Given the description of an element on the screen output the (x, y) to click on. 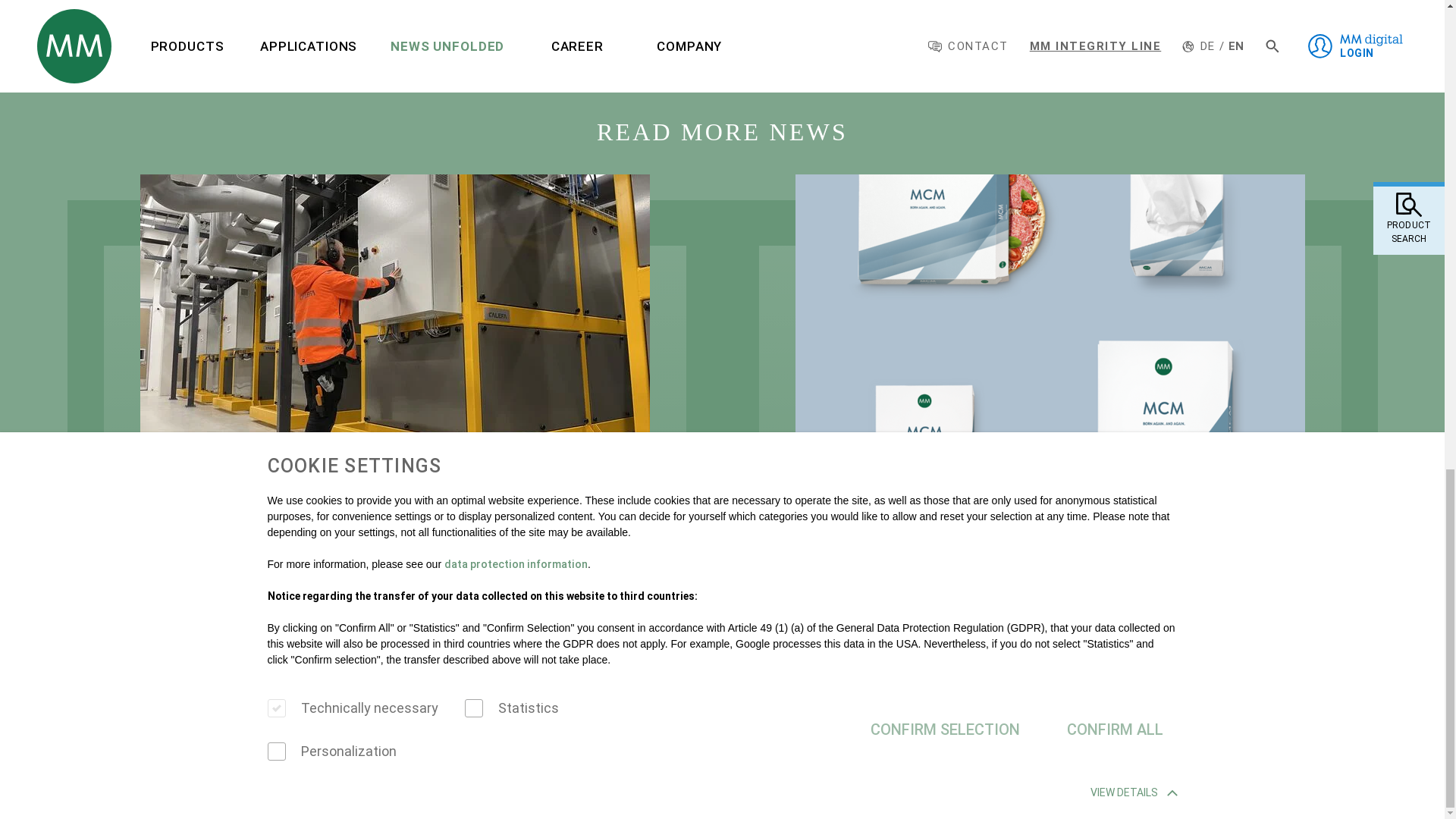
Cookie settings (55, 782)
